Given the description of an element on the screen output the (x, y) to click on. 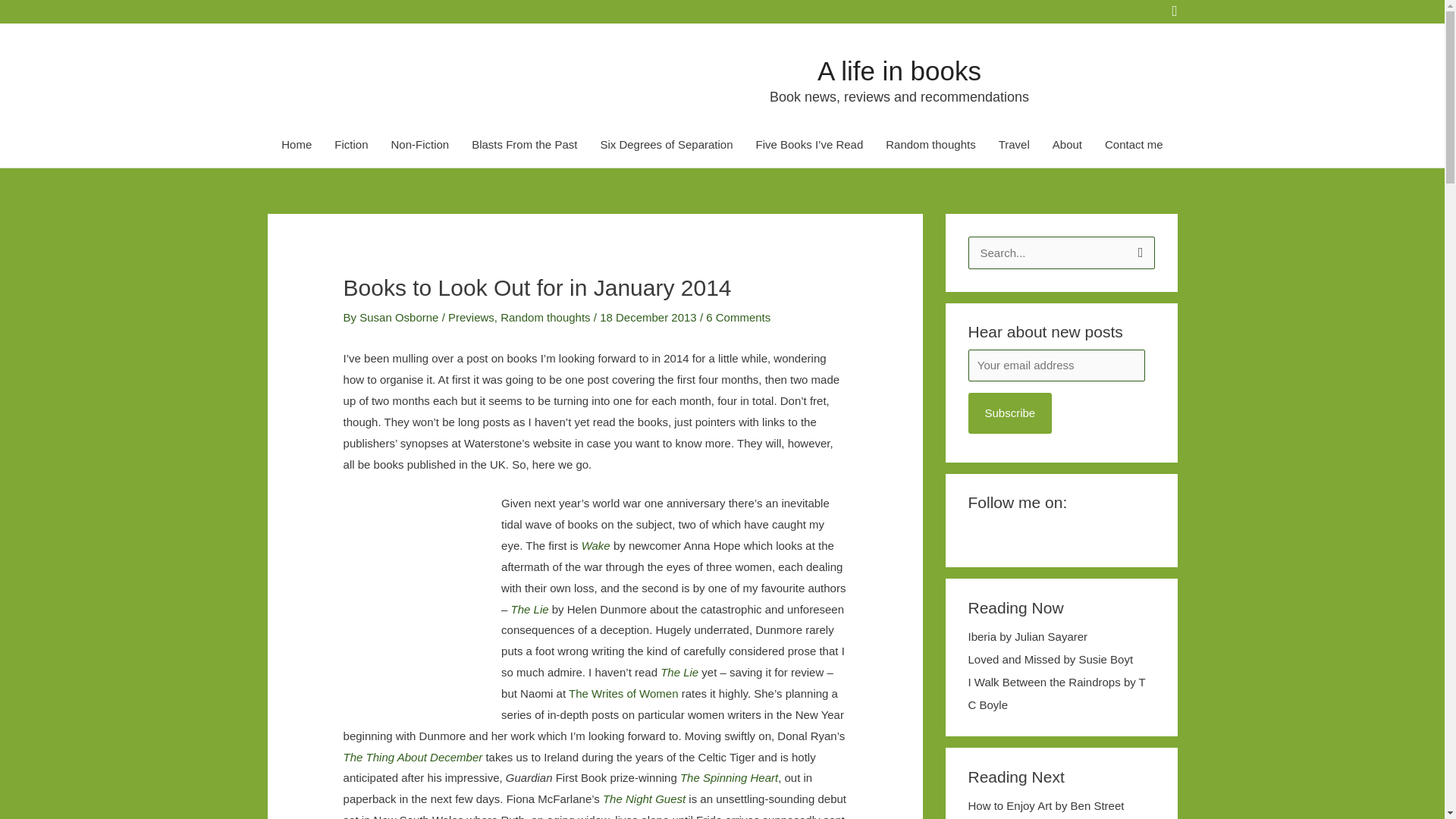
The Lie (679, 671)
The Night Guest (645, 798)
Previews (471, 317)
The Lie (679, 671)
Contact me (1133, 144)
Random thoughts (544, 317)
The Spinning Heart (728, 777)
Wake (596, 545)
Follow Me on Facebook (274, 10)
The Night Guest (645, 798)
Six Degrees of Separation (666, 144)
A life in books (898, 70)
Wake (596, 545)
Blasts From the Past (524, 144)
Fiction (350, 144)
